Given the description of an element on the screen output the (x, y) to click on. 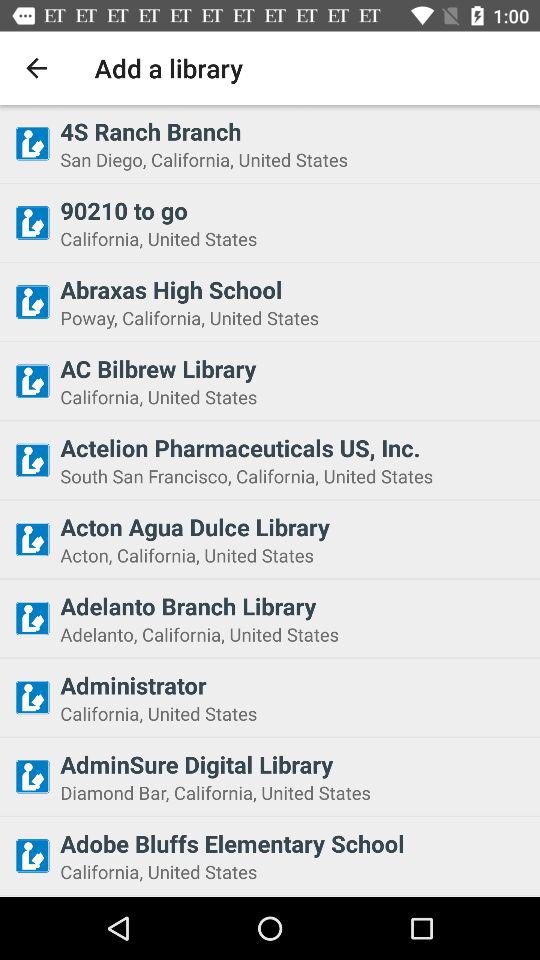
turn off the item above the poway california united icon (294, 289)
